Given the description of an element on the screen output the (x, y) to click on. 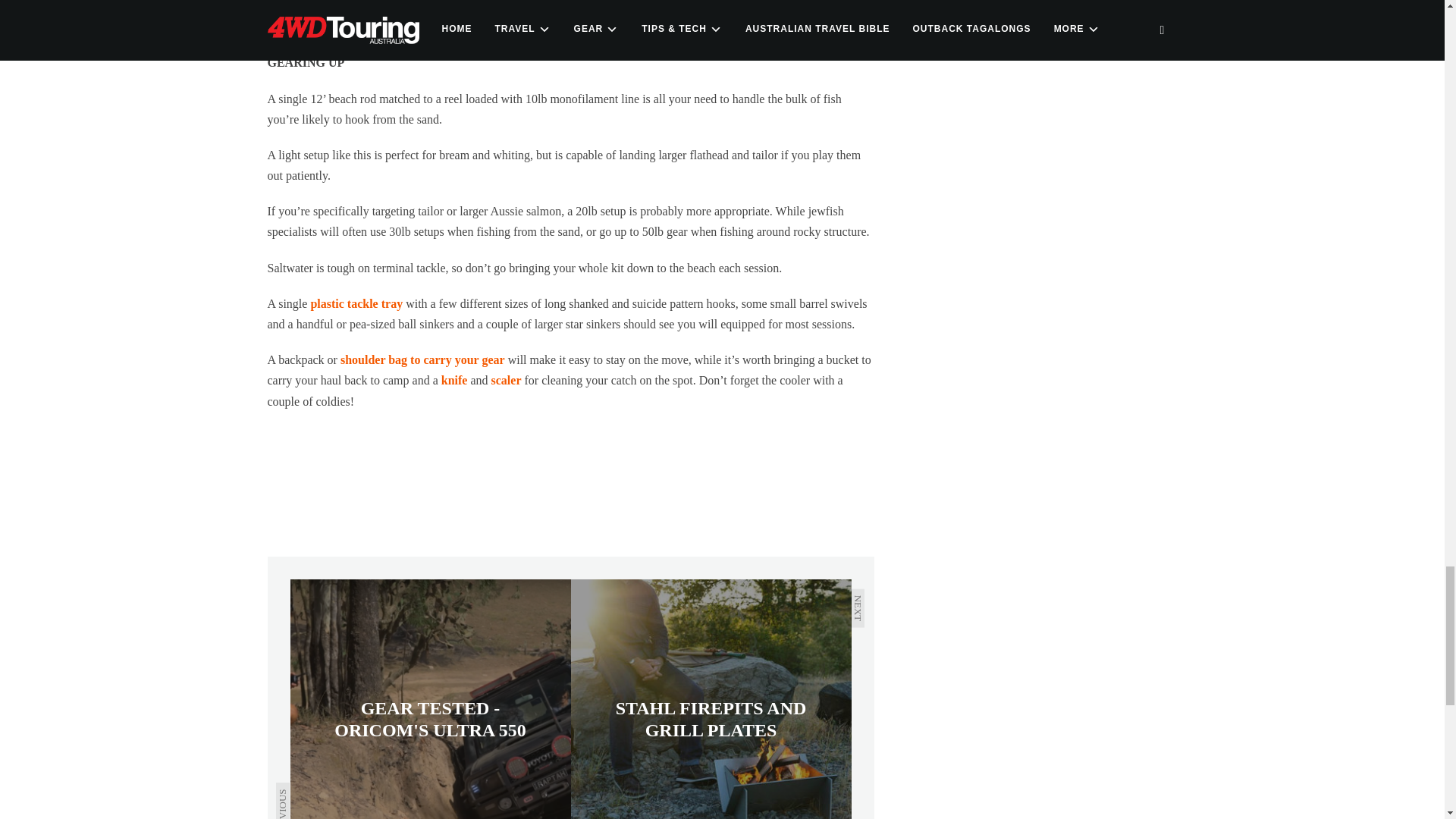
STAHL FIREPITS AND GRILL PLATES (710, 699)
GEAR TESTED - ORICOM'S ULTRA 550 (429, 699)
